Given the description of an element on the screen output the (x, y) to click on. 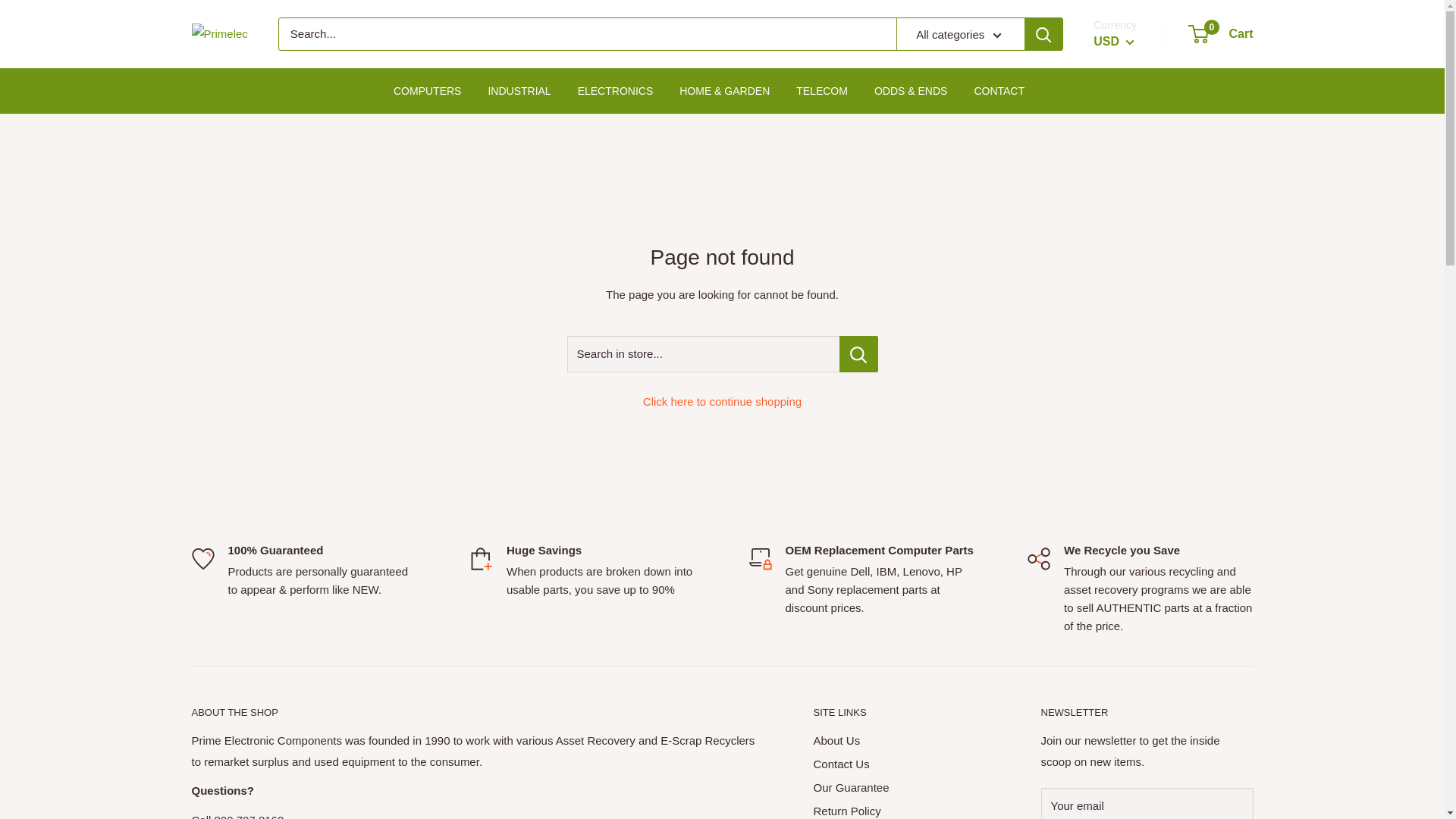
USD (1113, 41)
BDT (1128, 428)
AWG (1128, 340)
BGN (1128, 450)
BAM (1128, 385)
AUD (1128, 319)
AMD (1128, 275)
BND (1128, 494)
AZN (1128, 363)
BIF (1128, 472)
